Given the description of an element on the screen output the (x, y) to click on. 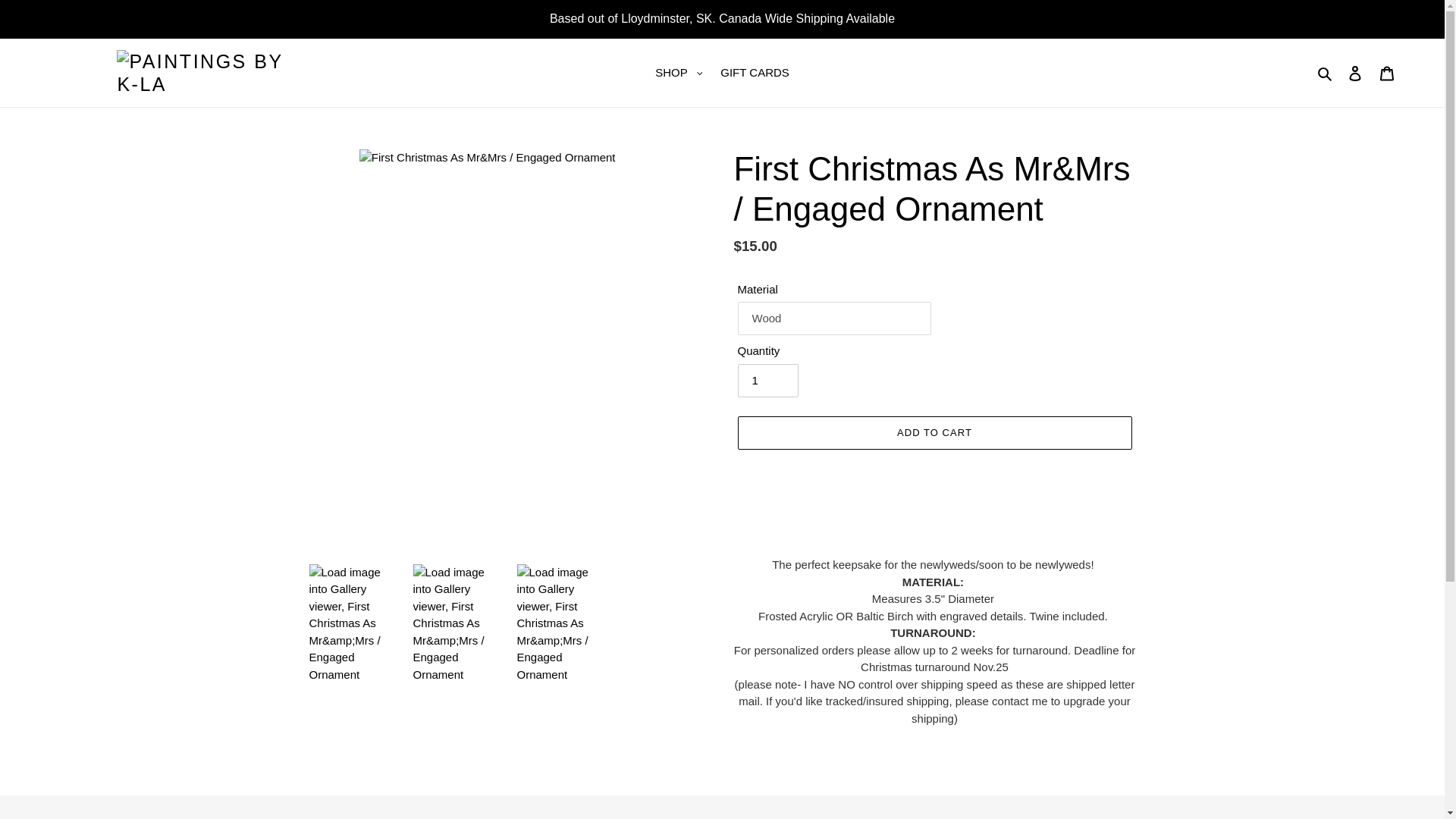
Log in (1355, 72)
1 (766, 380)
SHOP (678, 73)
Cart (1387, 72)
GIFT CARDS (754, 73)
Search (1326, 72)
